Given the description of an element on the screen output the (x, y) to click on. 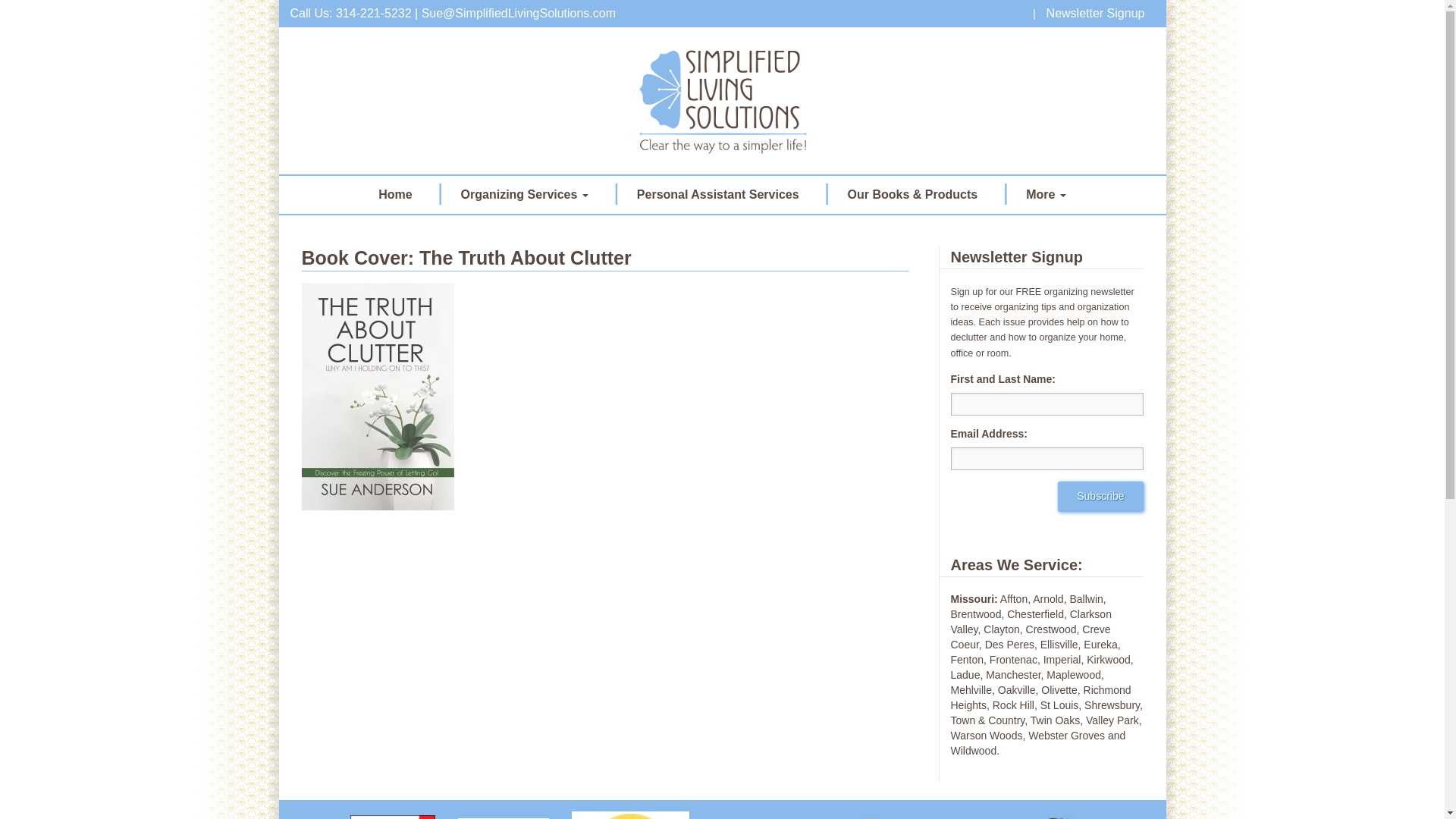
Home (394, 194)
Organizing Services (524, 194)
Newsletter Signup (1096, 13)
More (1045, 194)
Simplified Living Solutions (722, 100)
Subscribe (1100, 496)
Organizing Services (524, 194)
NAPO National (503, 812)
More (1045, 194)
Personal Assistant Services (718, 194)
Home (394, 194)
NAPO Golden Circle (630, 809)
Personal Assistant Services (718, 194)
